Given the description of an element on the screen output the (x, y) to click on. 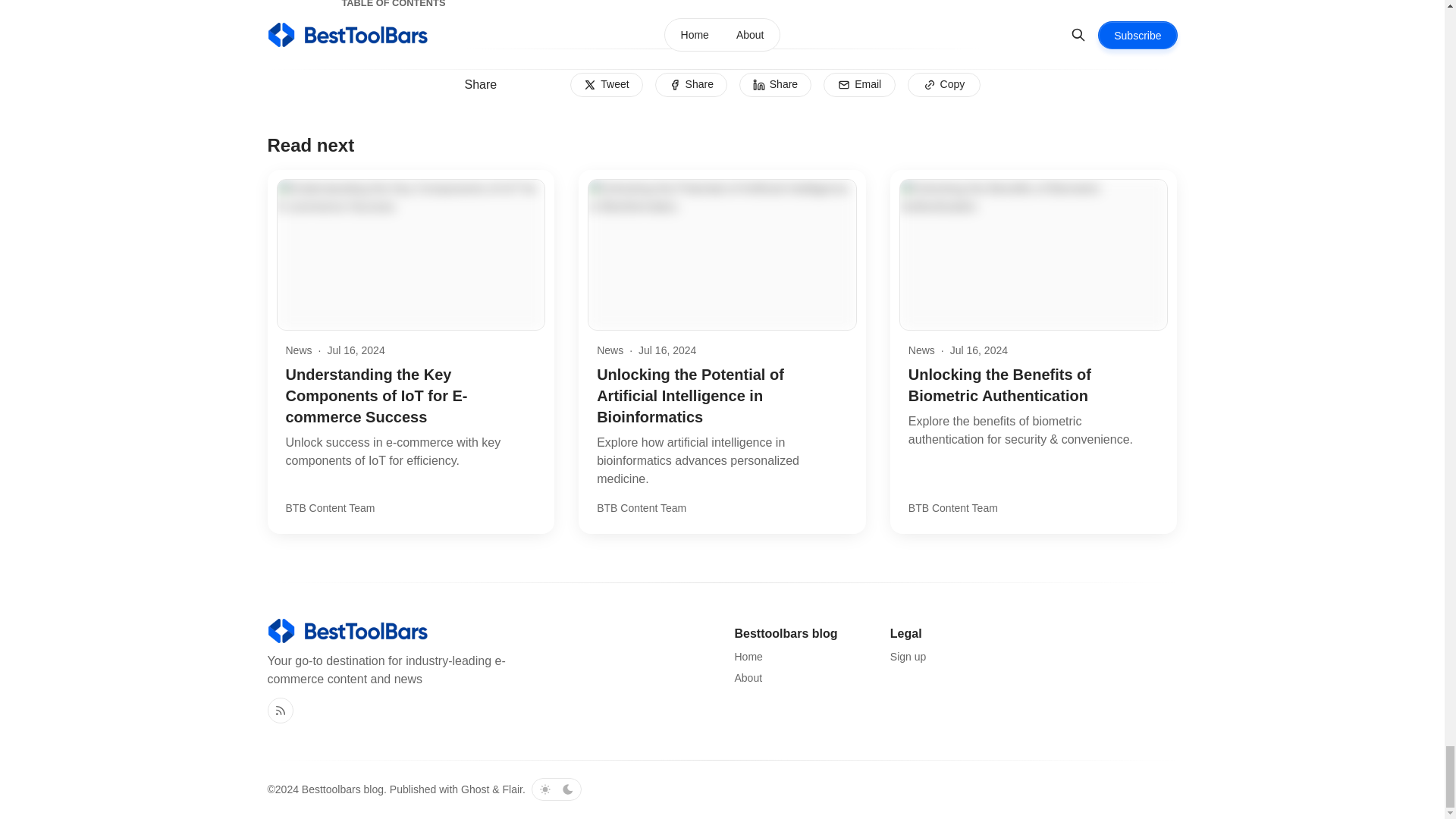
Email (859, 84)
Share on Linkedin (774, 84)
News (609, 350)
News (921, 350)
Share by email (859, 84)
BTB Content Team (329, 507)
Share on Twitter (606, 84)
Copy (943, 84)
Home (747, 656)
Unlocking the Benefits of Biometric Authentication (999, 385)
About (747, 677)
BTB Content Team (640, 507)
Copy URL (943, 84)
Share on Facebook (690, 84)
